Given the description of an element on the screen output the (x, y) to click on. 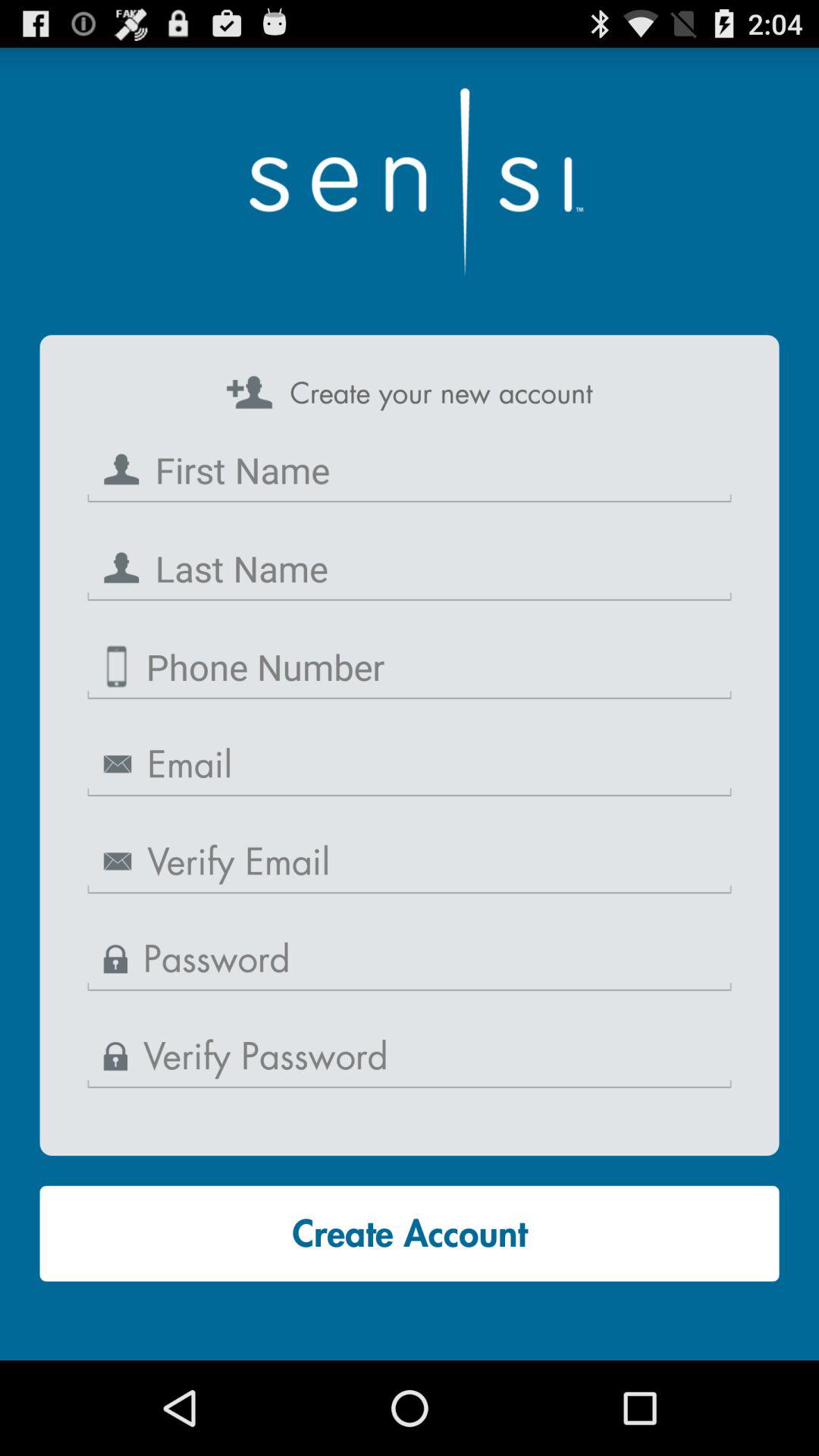
last name field (409, 569)
